Given the description of an element on the screen output the (x, y) to click on. 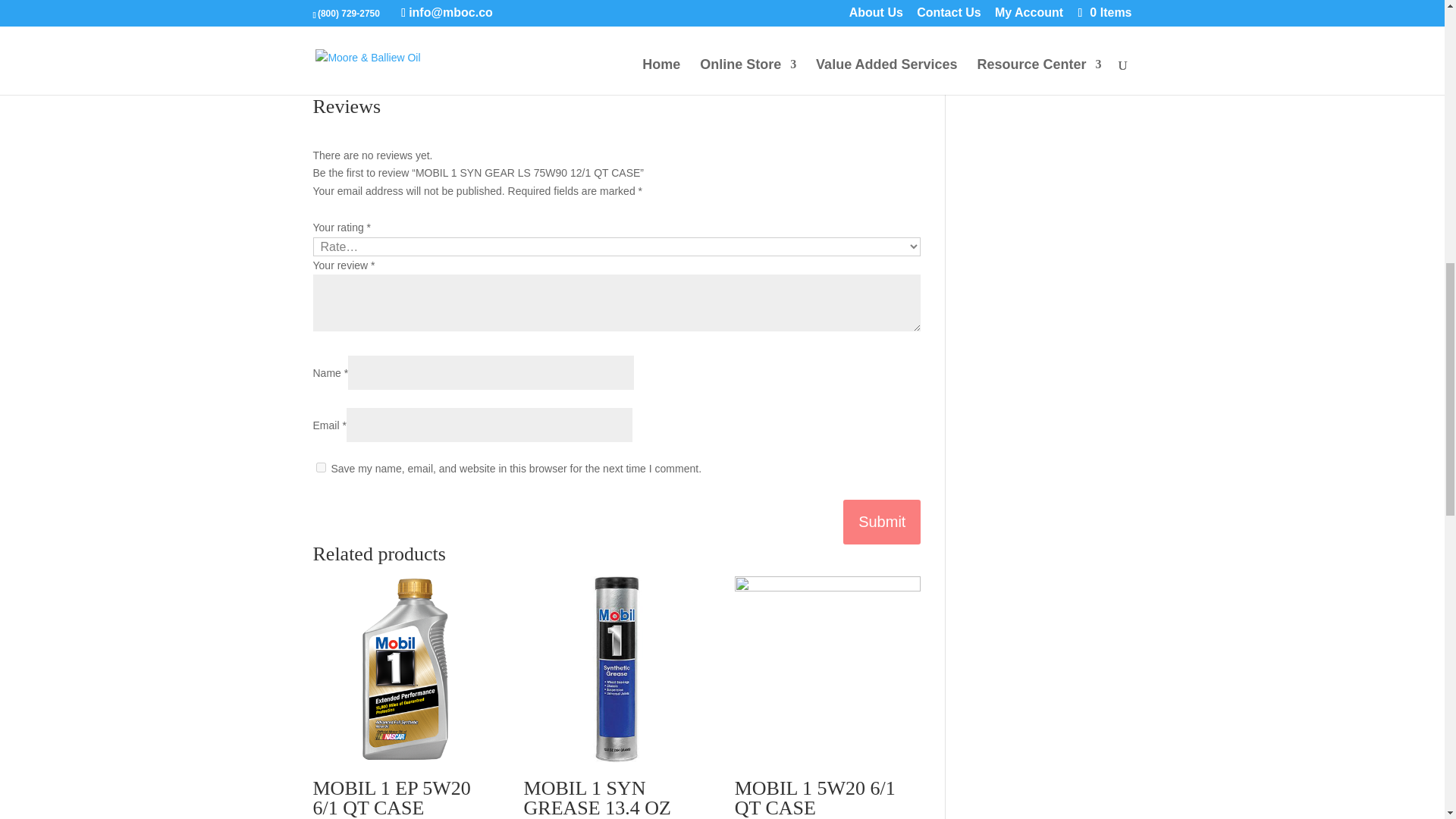
Submit (881, 521)
yes (319, 467)
Submit (881, 521)
